Given the description of an element on the screen output the (x, y) to click on. 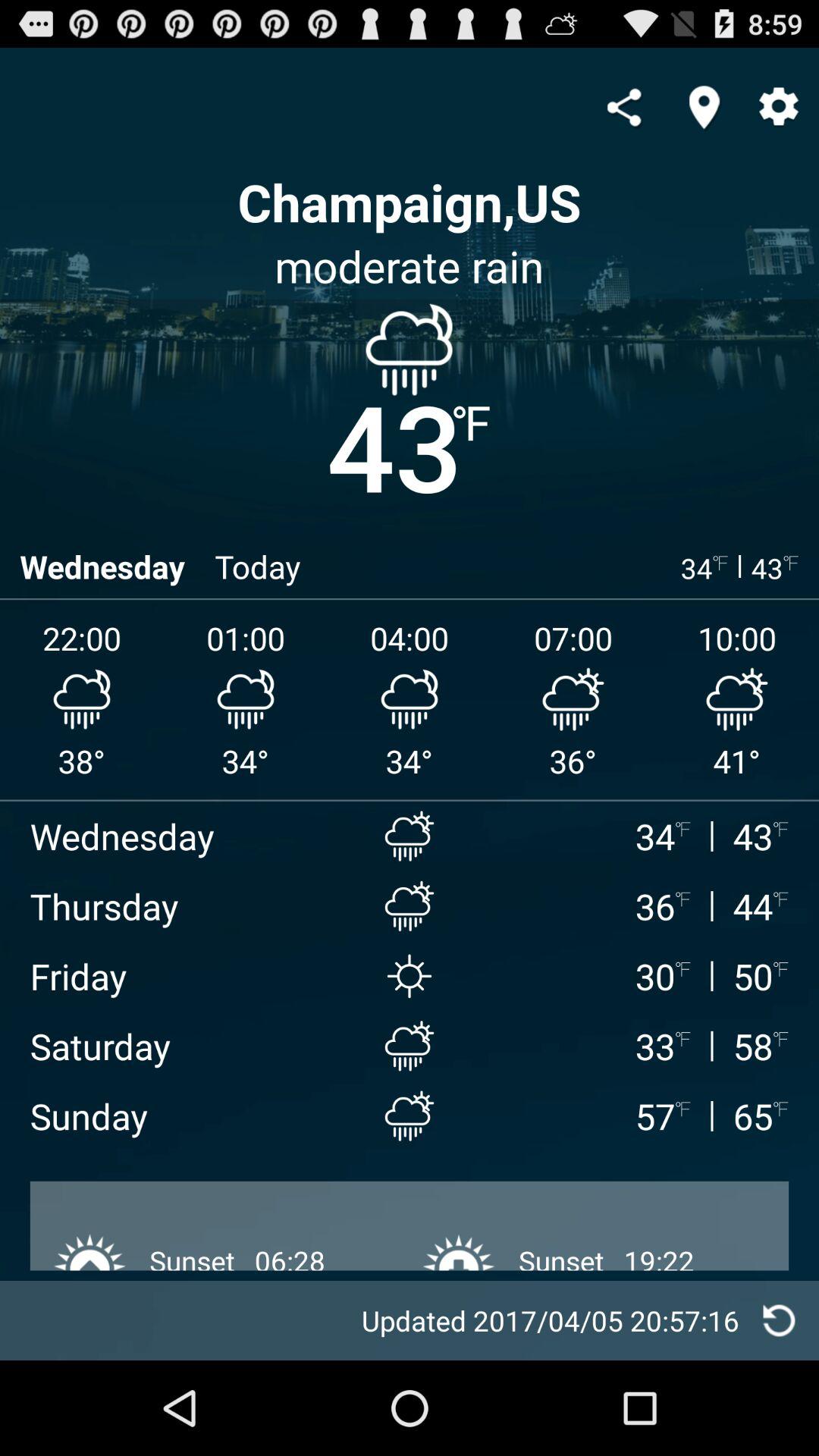
share the article (623, 107)
